Given the description of an element on the screen output the (x, y) to click on. 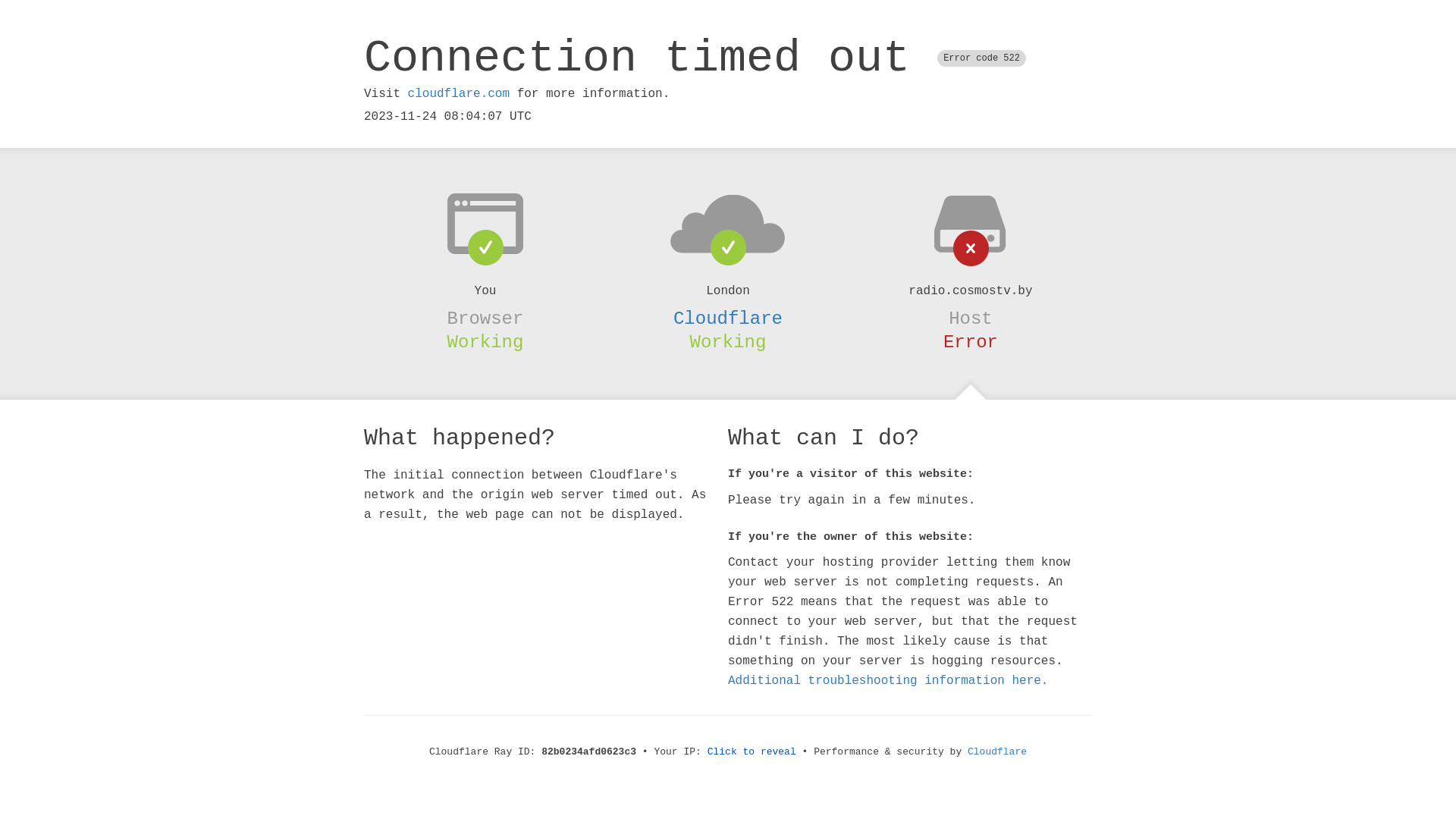
Additional troubleshooting information here. Element type: text (888, 680)
Cloudflare Element type: text (727, 318)
Click to reveal Element type: text (751, 751)
cloudflare.com Element type: text (458, 93)
Cloudflare Element type: text (996, 751)
